Given the description of an element on the screen output the (x, y) to click on. 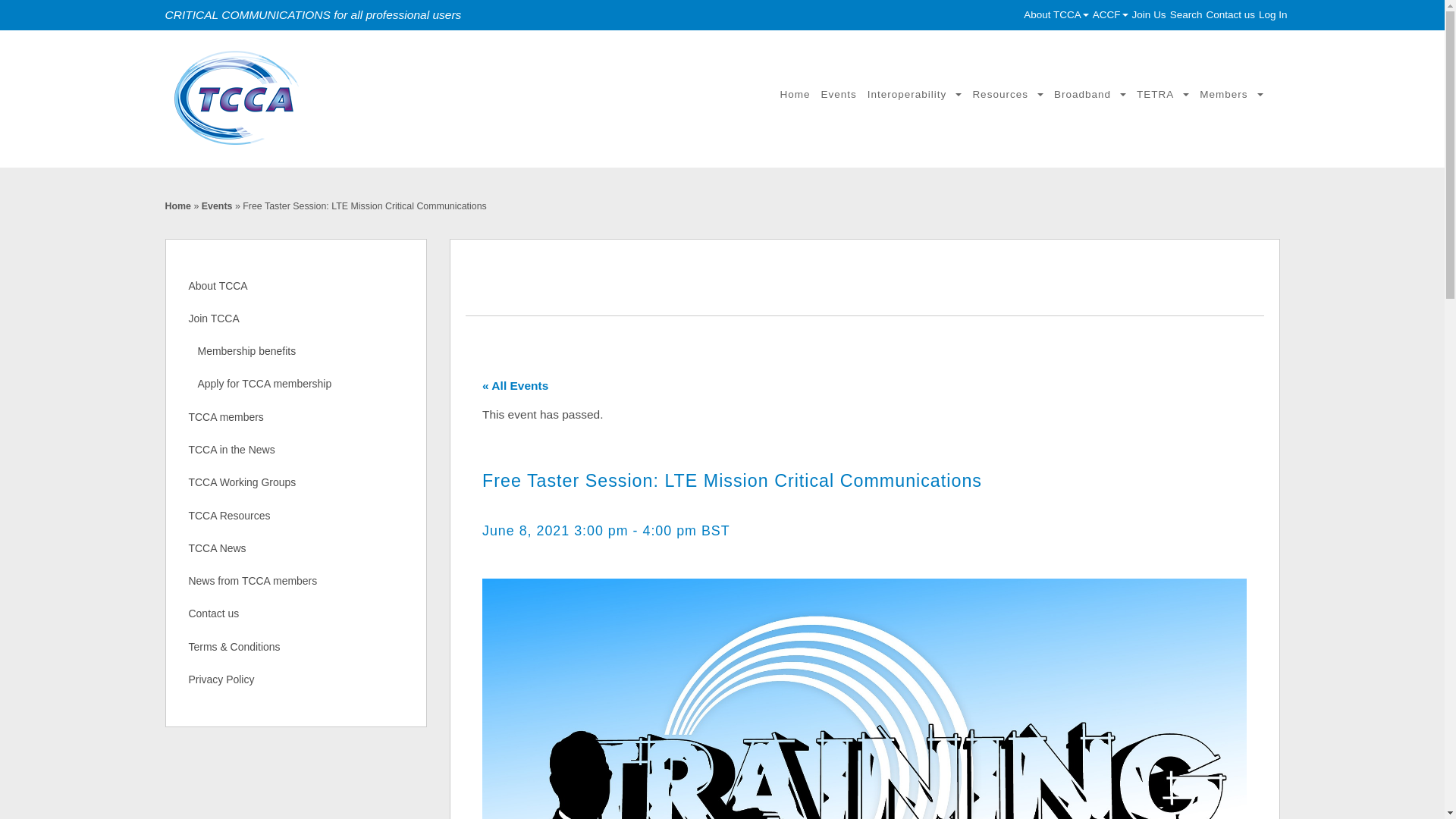
Interoperability (914, 94)
ACCF (1110, 14)
Join Us (1149, 14)
Broadband (1089, 94)
Resources (1007, 94)
About TCCA (1056, 14)
Search (1186, 14)
Log In (1273, 14)
CRITICAL COMMUNICATIONS for all professional users (351, 98)
Contact us (1230, 14)
